Given the description of an element on the screen output the (x, y) to click on. 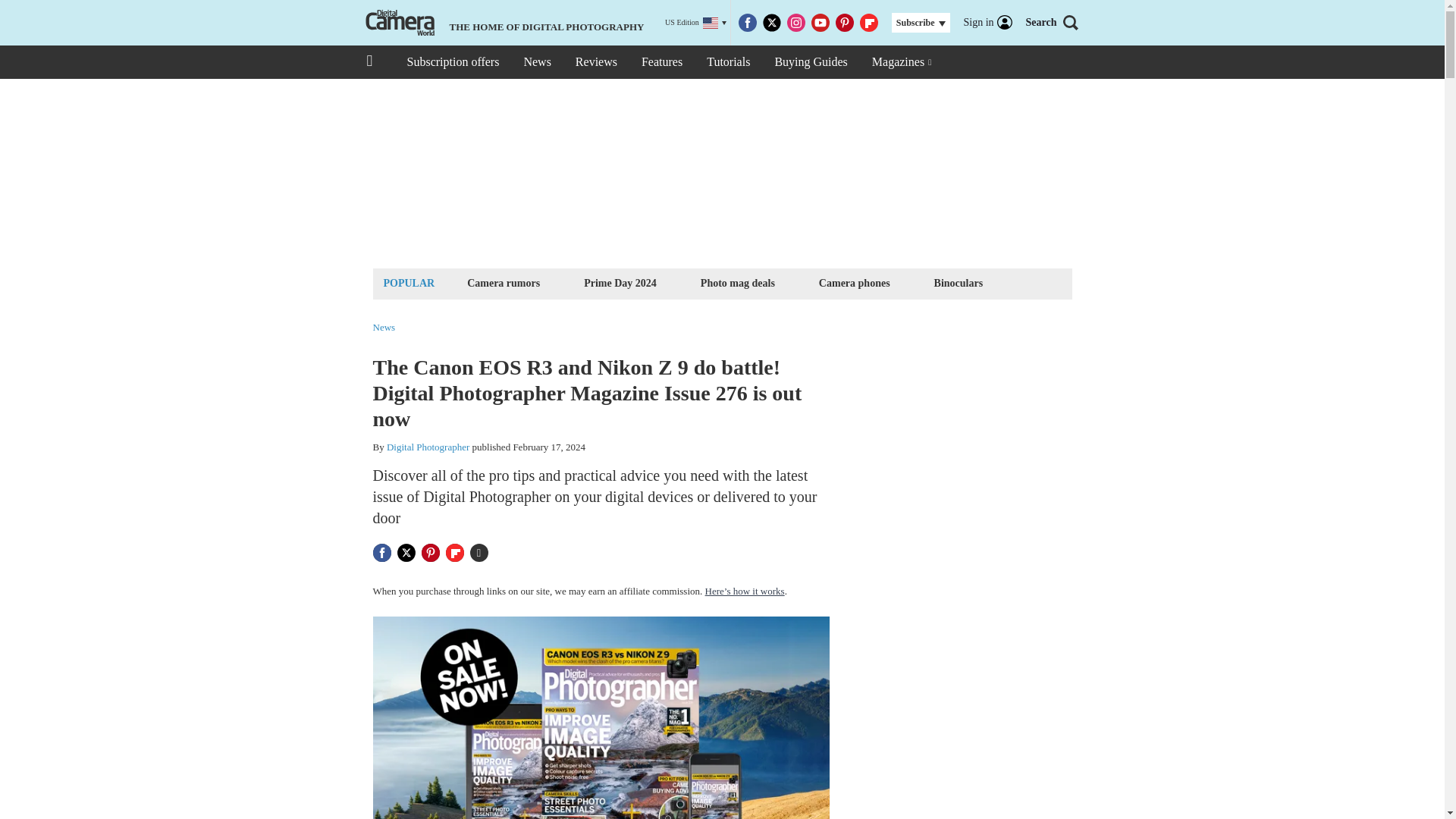
US Edition (695, 22)
Prime Day 2024 (620, 282)
Photo mag deals (737, 282)
Camera rumors (502, 282)
Features (661, 61)
Subscription offers (452, 61)
Reviews (595, 61)
News (536, 61)
Binoculars (958, 282)
Tutorials (727, 61)
Buying Guides (810, 61)
THE HOME OF DIGITAL PHOTOGRAPHY (503, 22)
Camera phones (854, 282)
